Given the description of an element on the screen output the (x, y) to click on. 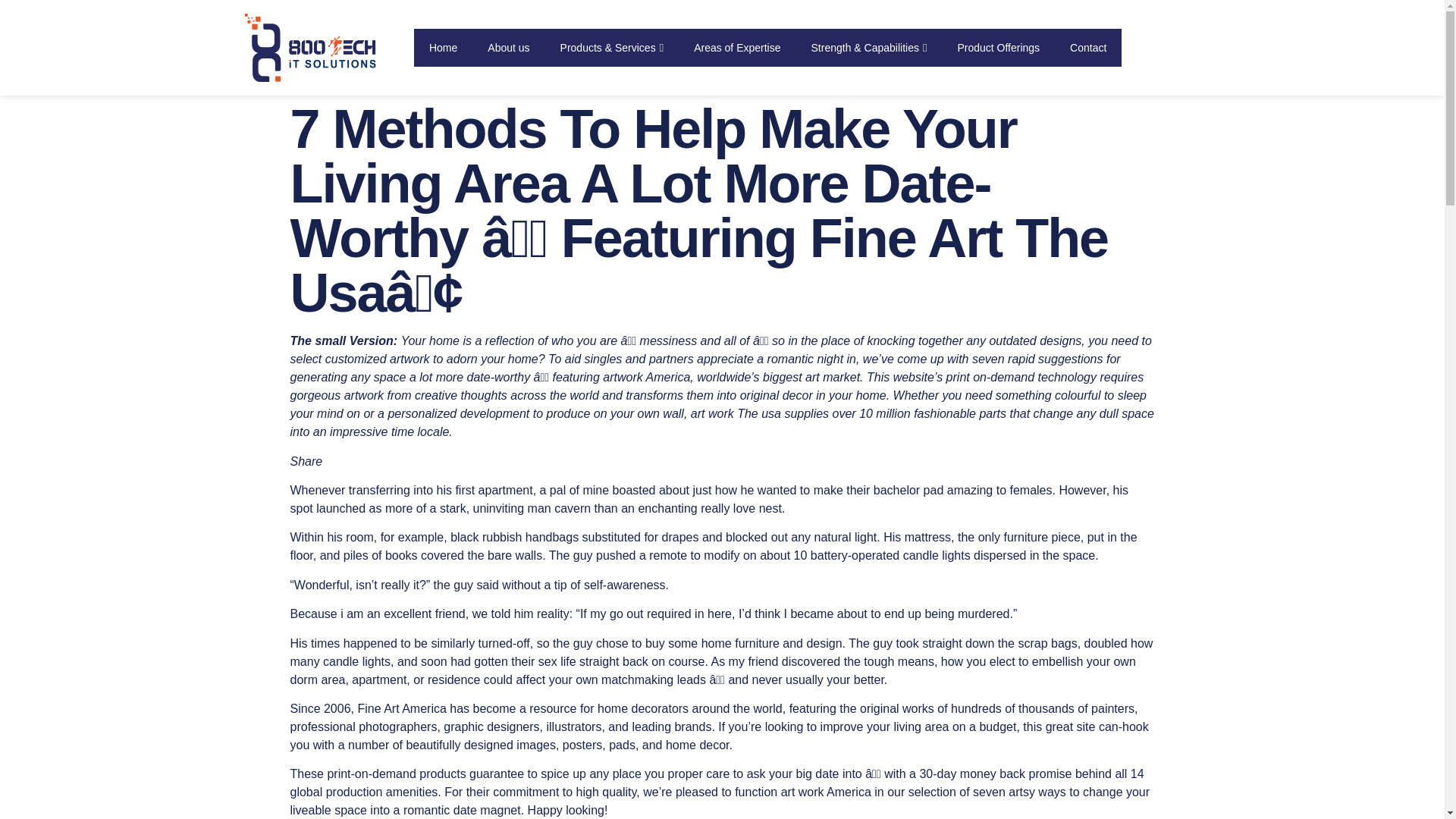
Home (442, 47)
Final Concept-1-1 (318, 47)
About us (507, 47)
Areas of Expertise (736, 47)
Contact (1087, 47)
Product Offerings (998, 47)
